Given the description of an element on the screen output the (x, y) to click on. 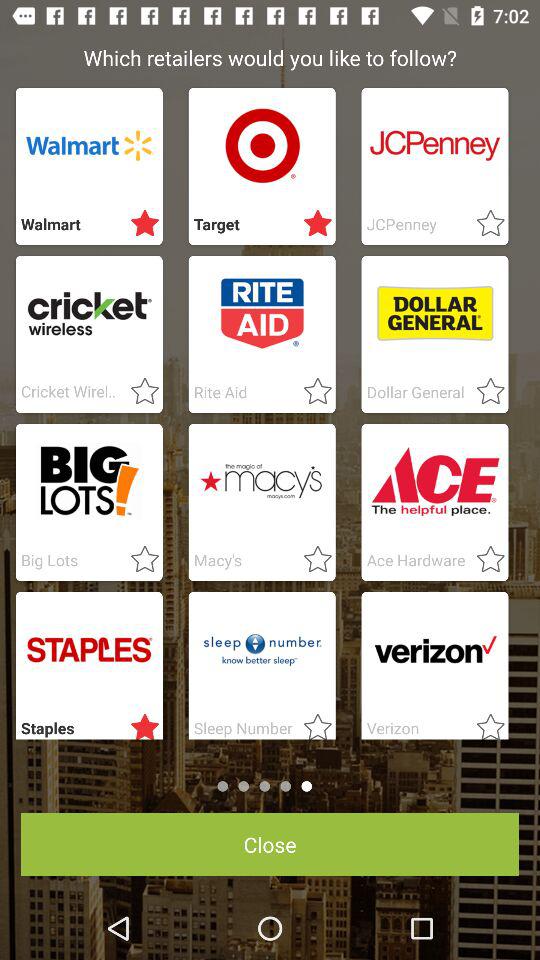
go to customs (139, 392)
